Given the description of an element on the screen output the (x, y) to click on. 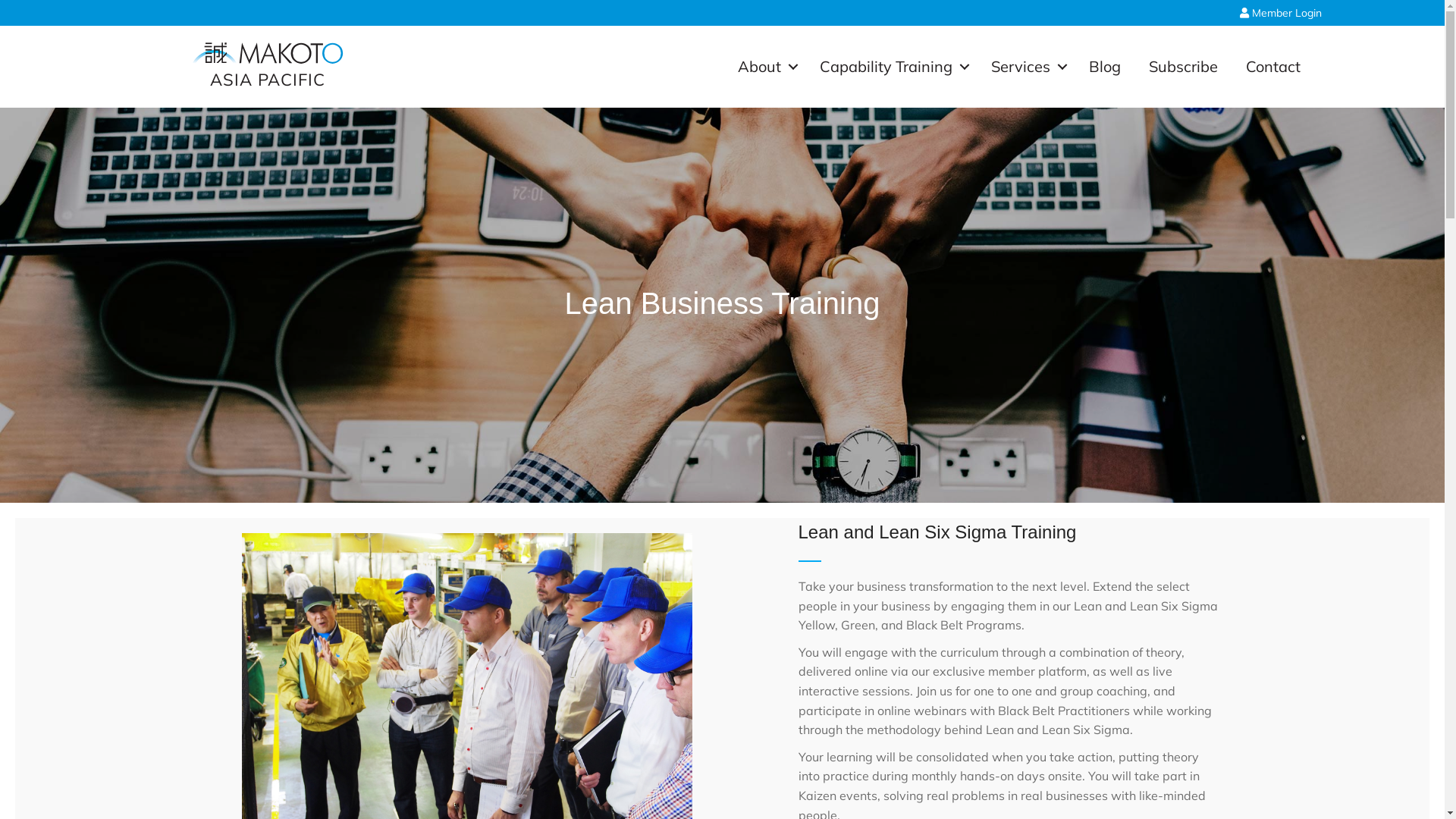
About Element type: text (763, 66)
Contact Element type: text (1272, 66)
Subscribe Element type: text (1182, 66)
Lean and Lean Six Sigma Training Element type: text (936, 531)
Makoto Asia Pacific Element type: hover (266, 52)
Capability Training Element type: text (890, 66)
ASIA PACIFIC Element type: text (266, 79)
Services Element type: text (1024, 66)
Member Login Element type: text (1279, 12)
Blog Element type: text (1104, 66)
